Given the description of an element on the screen output the (x, y) to click on. 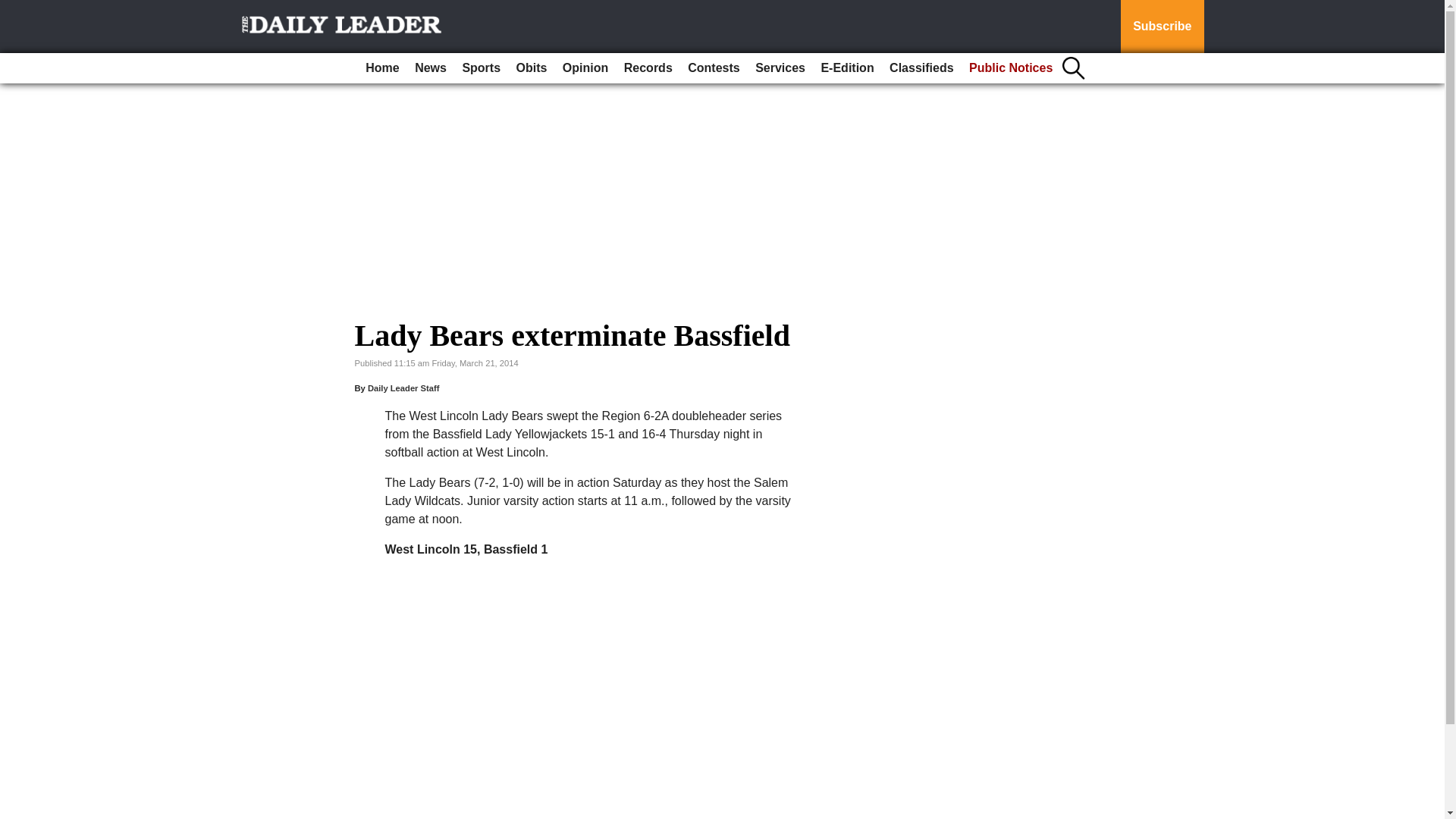
Public Notices (1010, 68)
News (430, 68)
Home (381, 68)
Classifieds (921, 68)
Daily Leader Staff (403, 388)
Sports (480, 68)
Services (779, 68)
Records (647, 68)
E-Edition (846, 68)
Opinion (585, 68)
